Given the description of an element on the screen output the (x, y) to click on. 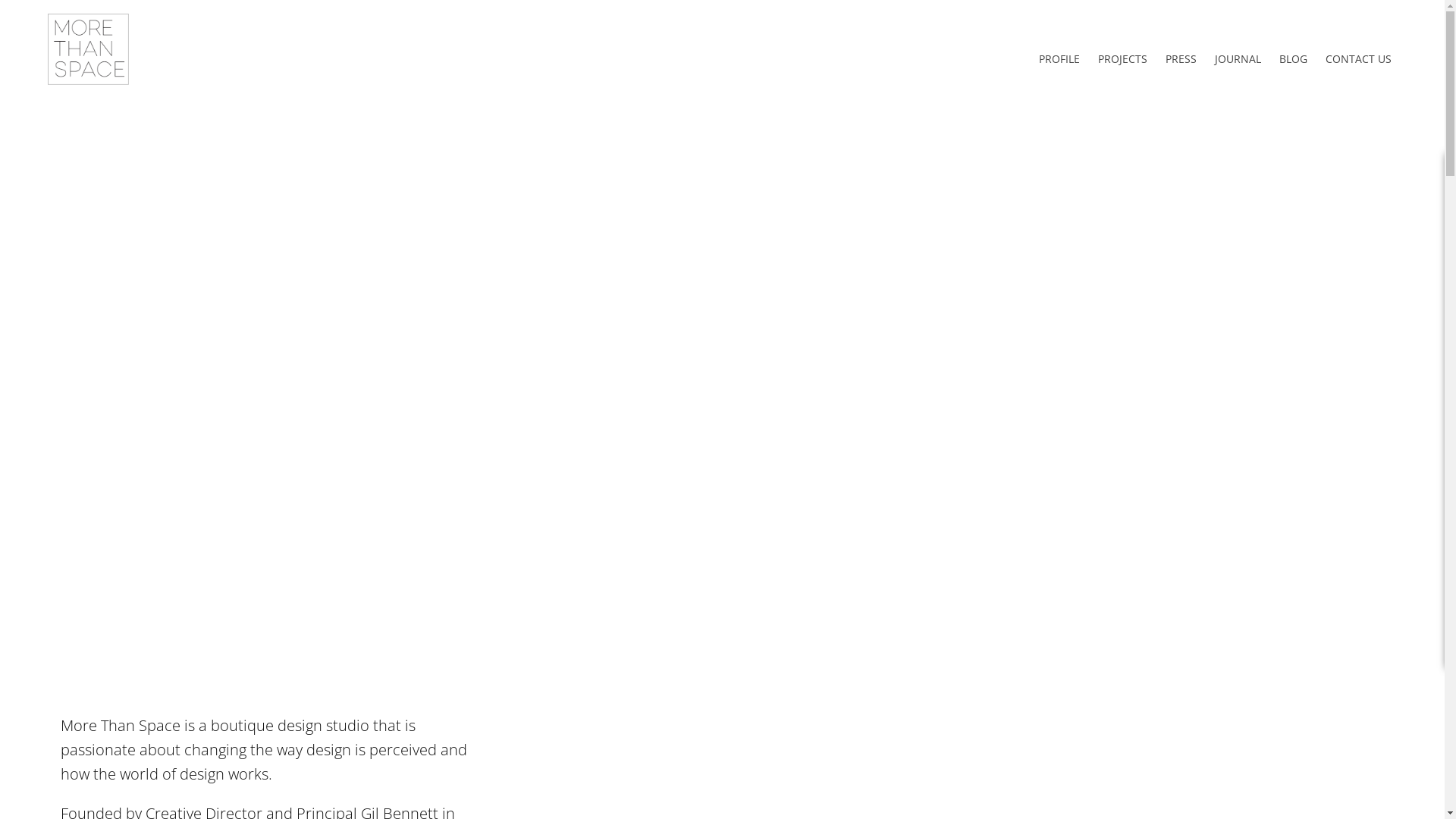
PROFILE Element type: text (1059, 58)
CONTACT US Element type: text (1358, 58)
PRESS Element type: text (1180, 58)
BLOG Element type: text (1292, 58)
JOURNAL Element type: text (1237, 58)
PROJECTS Element type: text (1122, 58)
